Given the description of an element on the screen output the (x, y) to click on. 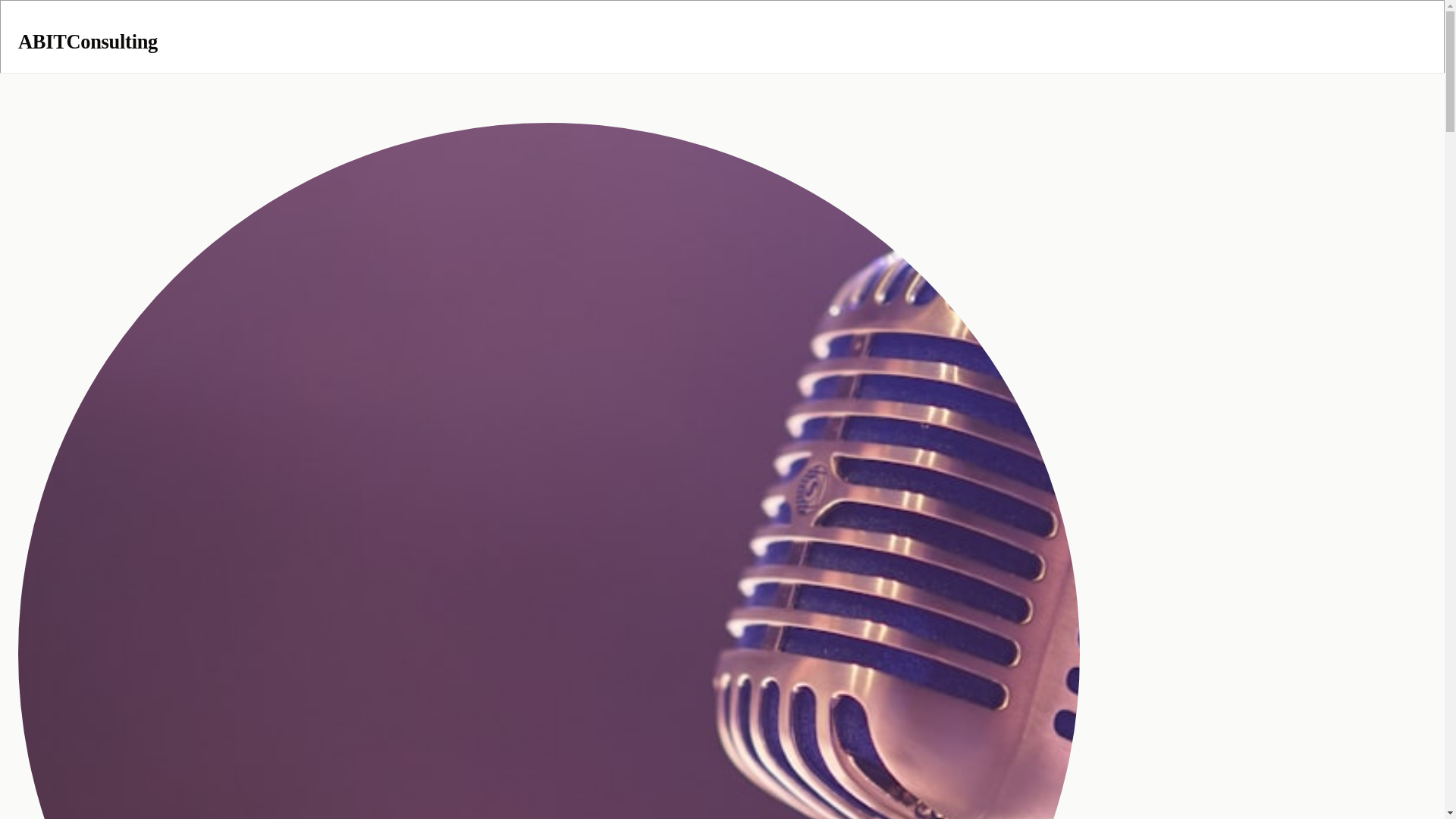
ABITConsulting (453, 32)
